Given the description of an element on the screen output the (x, y) to click on. 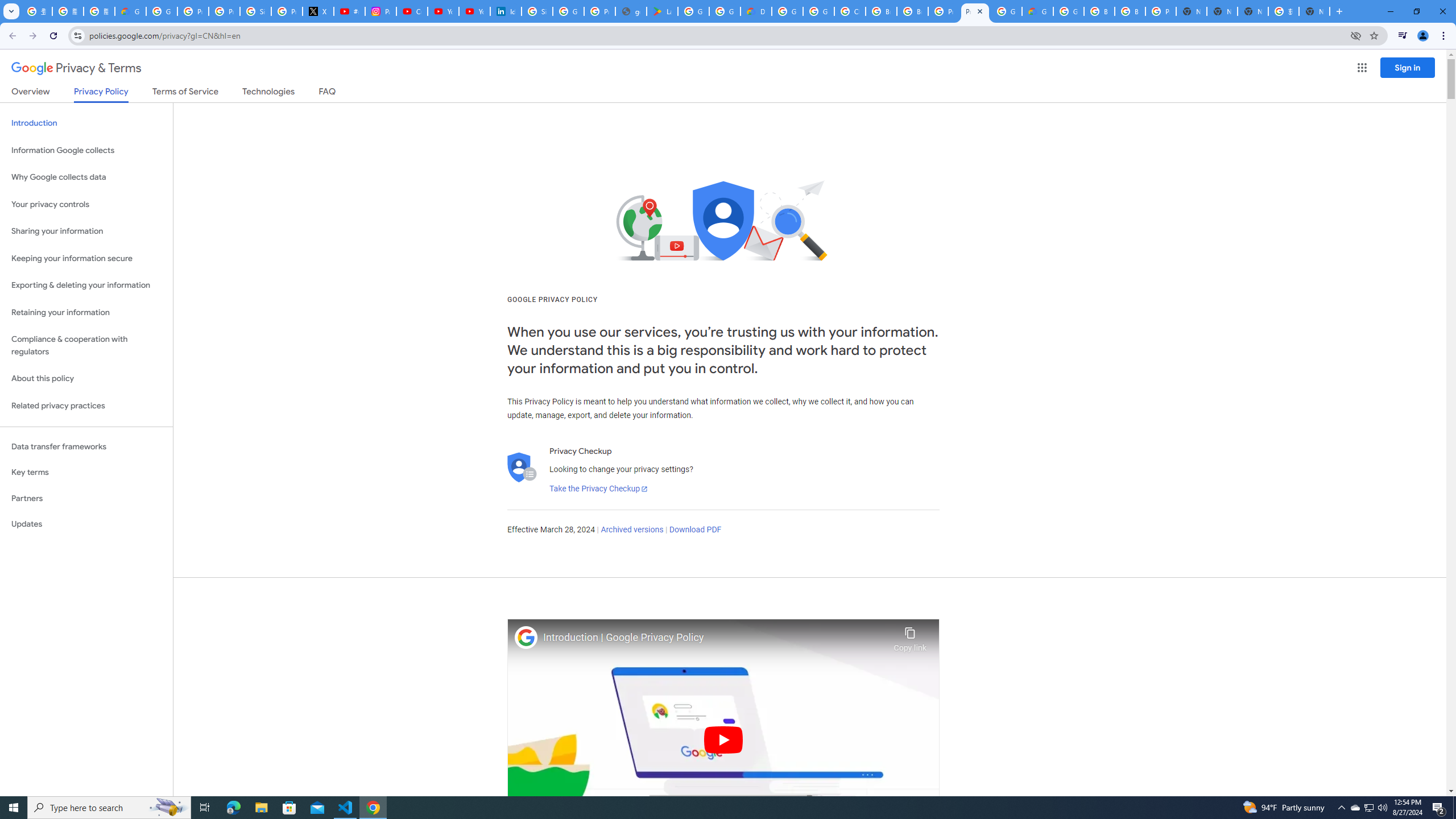
Your privacy controls (86, 204)
Google Cloud Platform (787, 11)
X (318, 11)
#nbabasketballhighlights - YouTube (349, 11)
Introduction | Google Privacy Policy (715, 637)
FAQ (327, 93)
